Given the description of an element on the screen output the (x, y) to click on. 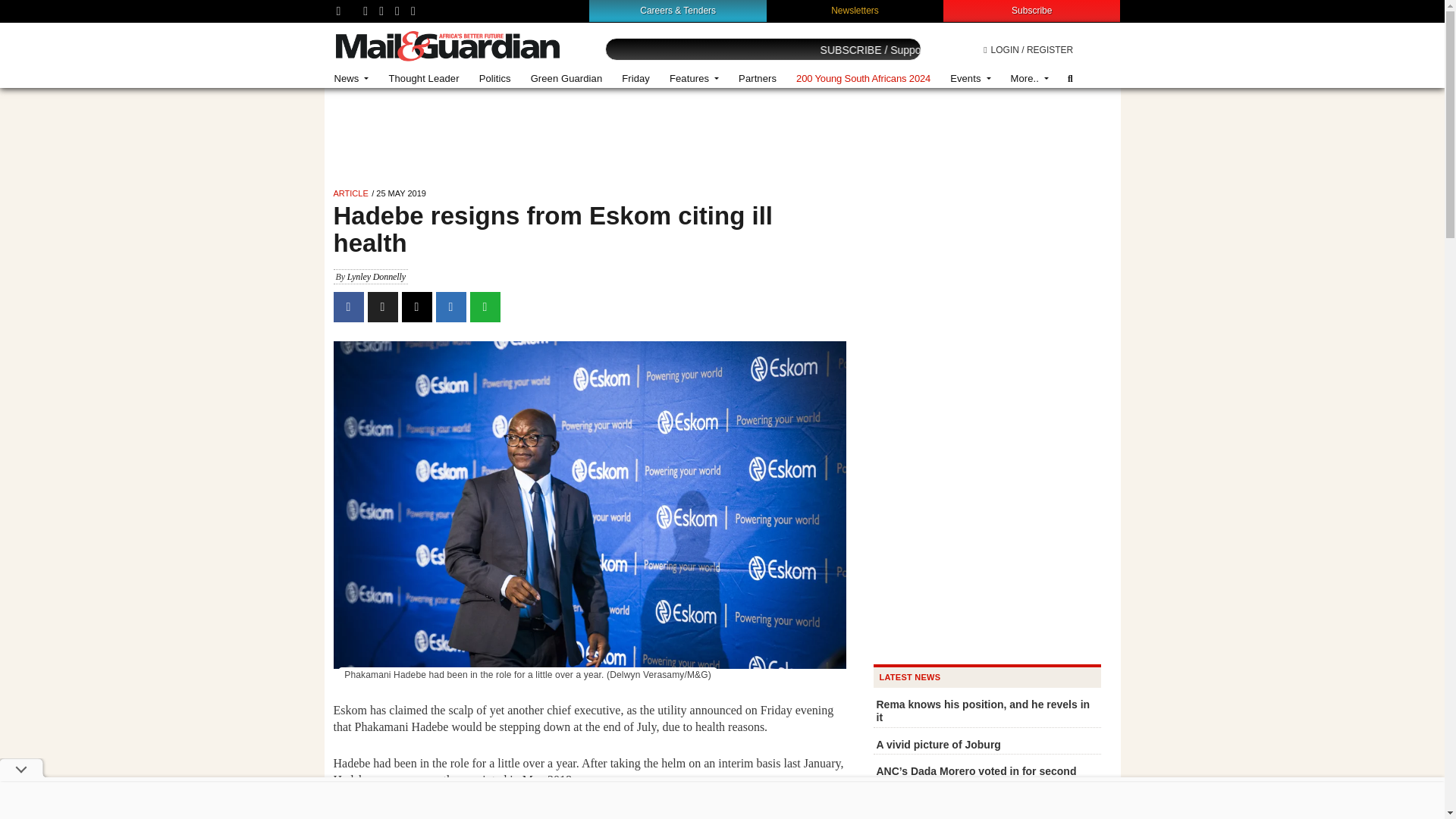
Friday (635, 78)
Green Guardian (566, 78)
Features (694, 78)
Politics (494, 78)
Subscribe (1031, 9)
News (351, 78)
Newsletters (855, 9)
Thought Leader (423, 78)
News (351, 78)
